Given the description of an element on the screen output the (x, y) to click on. 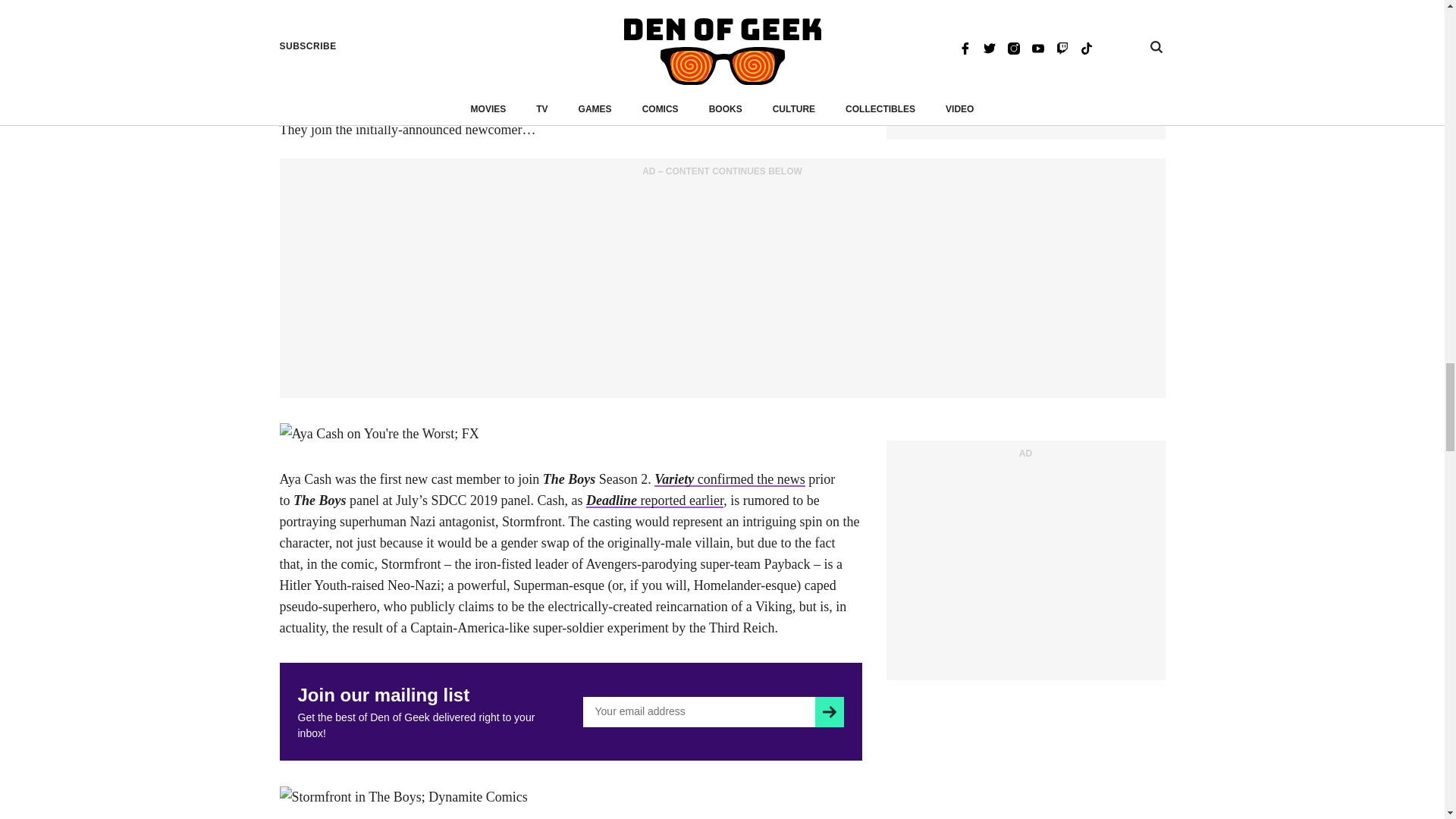
Deadline (654, 500)
